Given the description of an element on the screen output the (x, y) to click on. 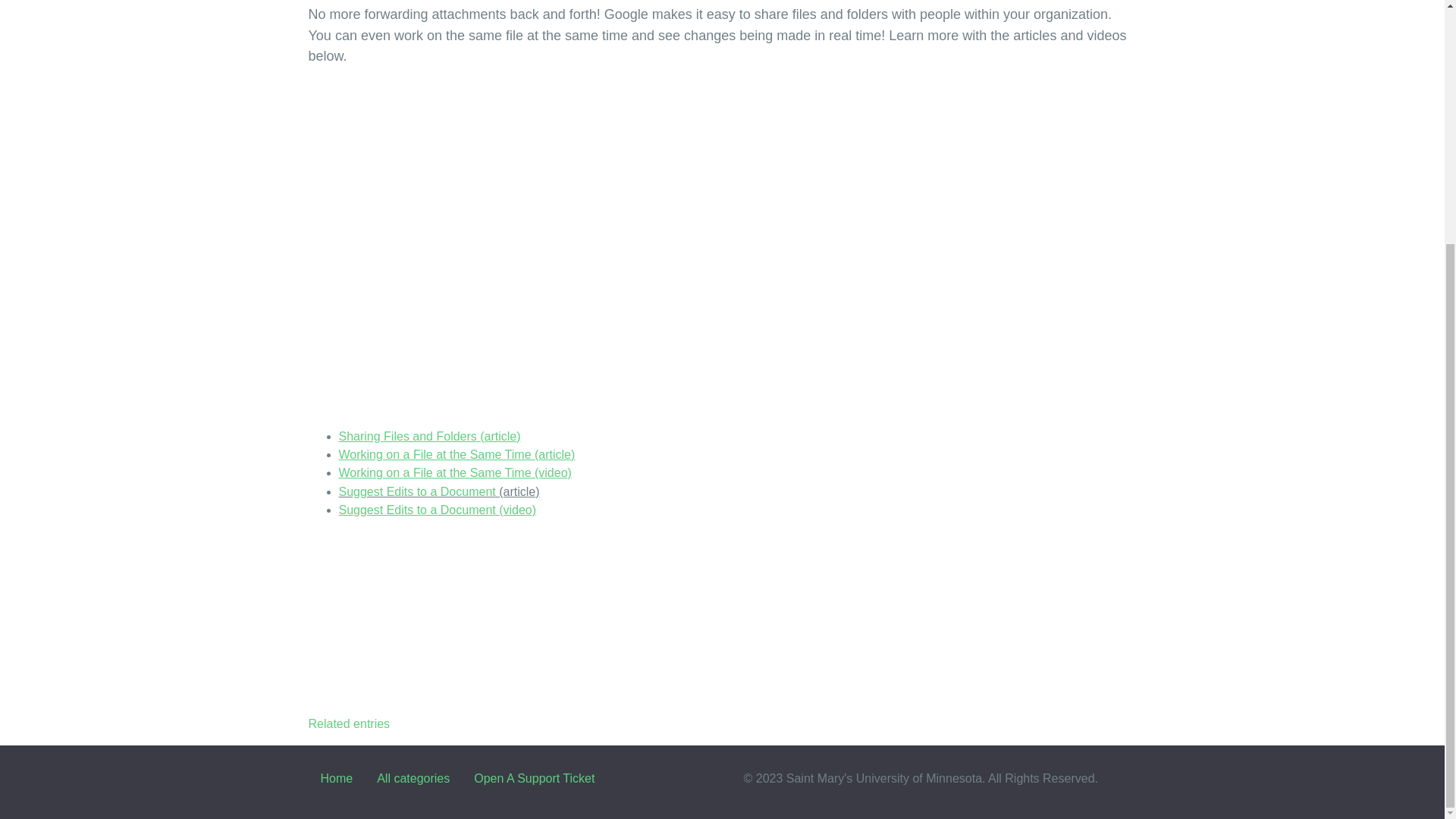
All categories (413, 778)
Home (336, 778)
Related entries (348, 723)
Open A Support Ticket (534, 778)
Suggest Edits to a Document (416, 491)
